Given the description of an element on the screen output the (x, y) to click on. 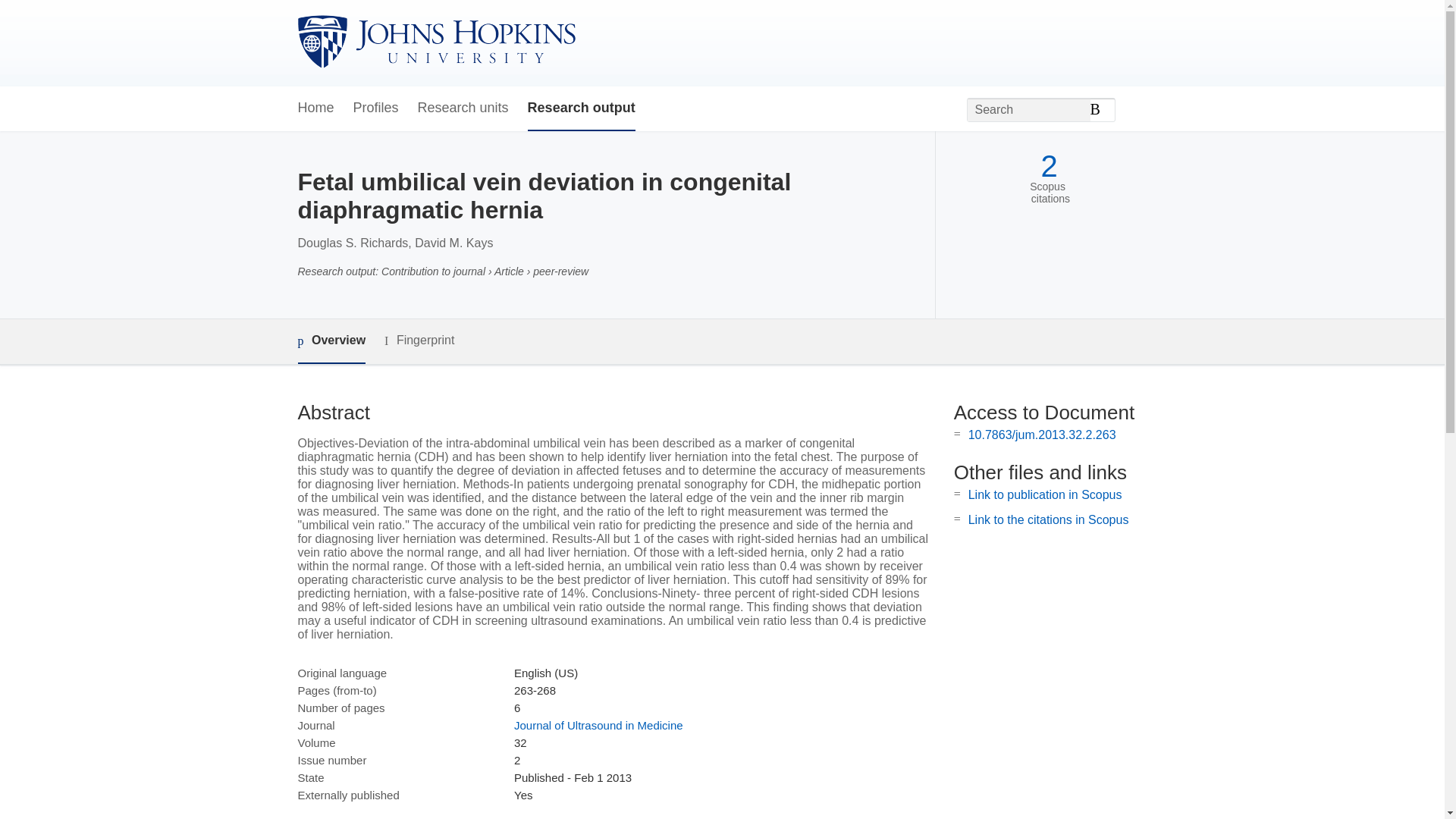
Link to publication in Scopus (1045, 494)
Profiles (375, 108)
Link to the citations in Scopus (1048, 519)
Johns Hopkins University Home (436, 43)
Research units (462, 108)
Journal of Ultrasound in Medicine (597, 725)
Overview (331, 341)
Research output (580, 108)
Fingerprint (419, 340)
